Given the description of an element on the screen output the (x, y) to click on. 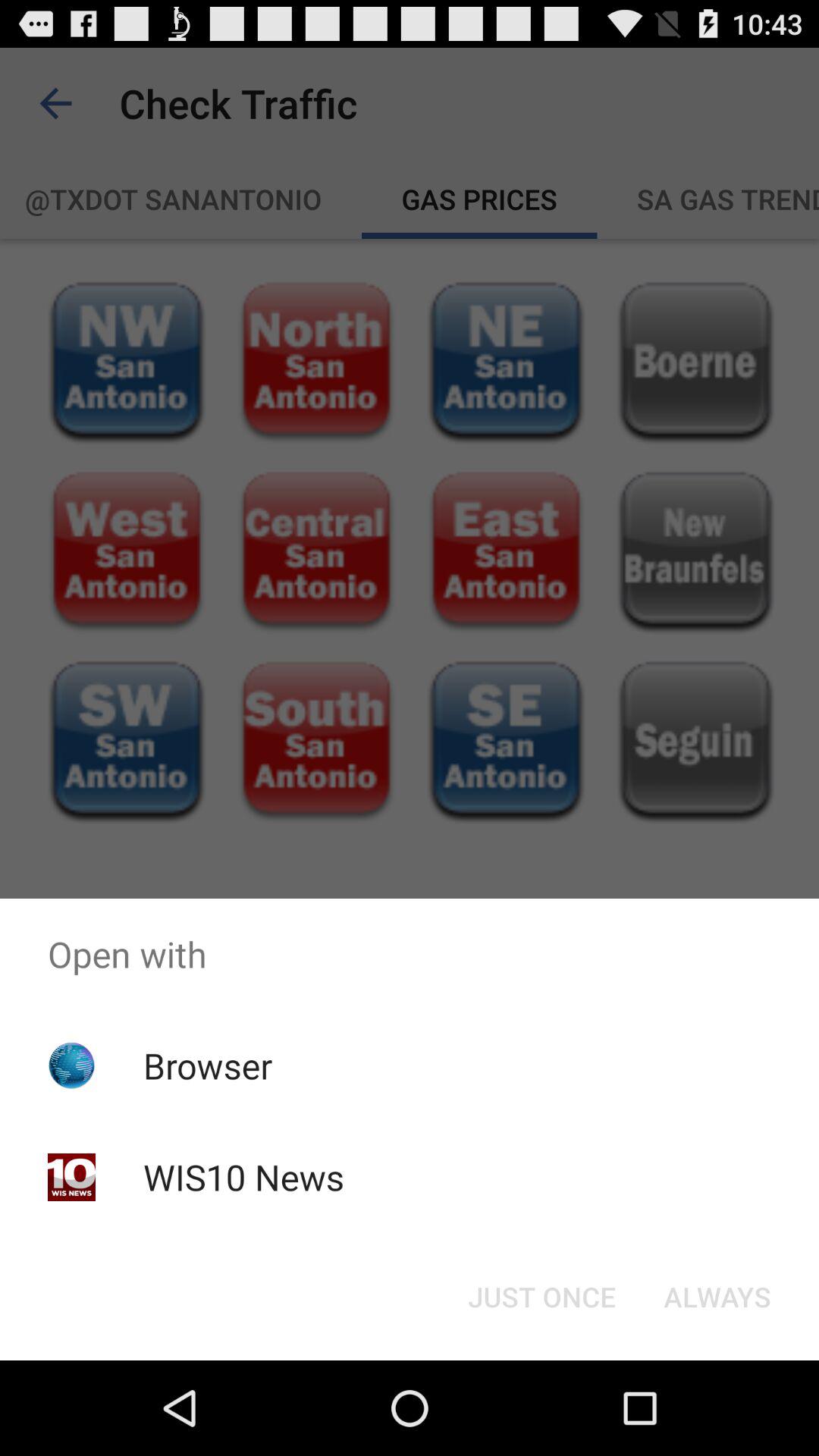
jump until the browser icon (207, 1065)
